Given the description of an element on the screen output the (x, y) to click on. 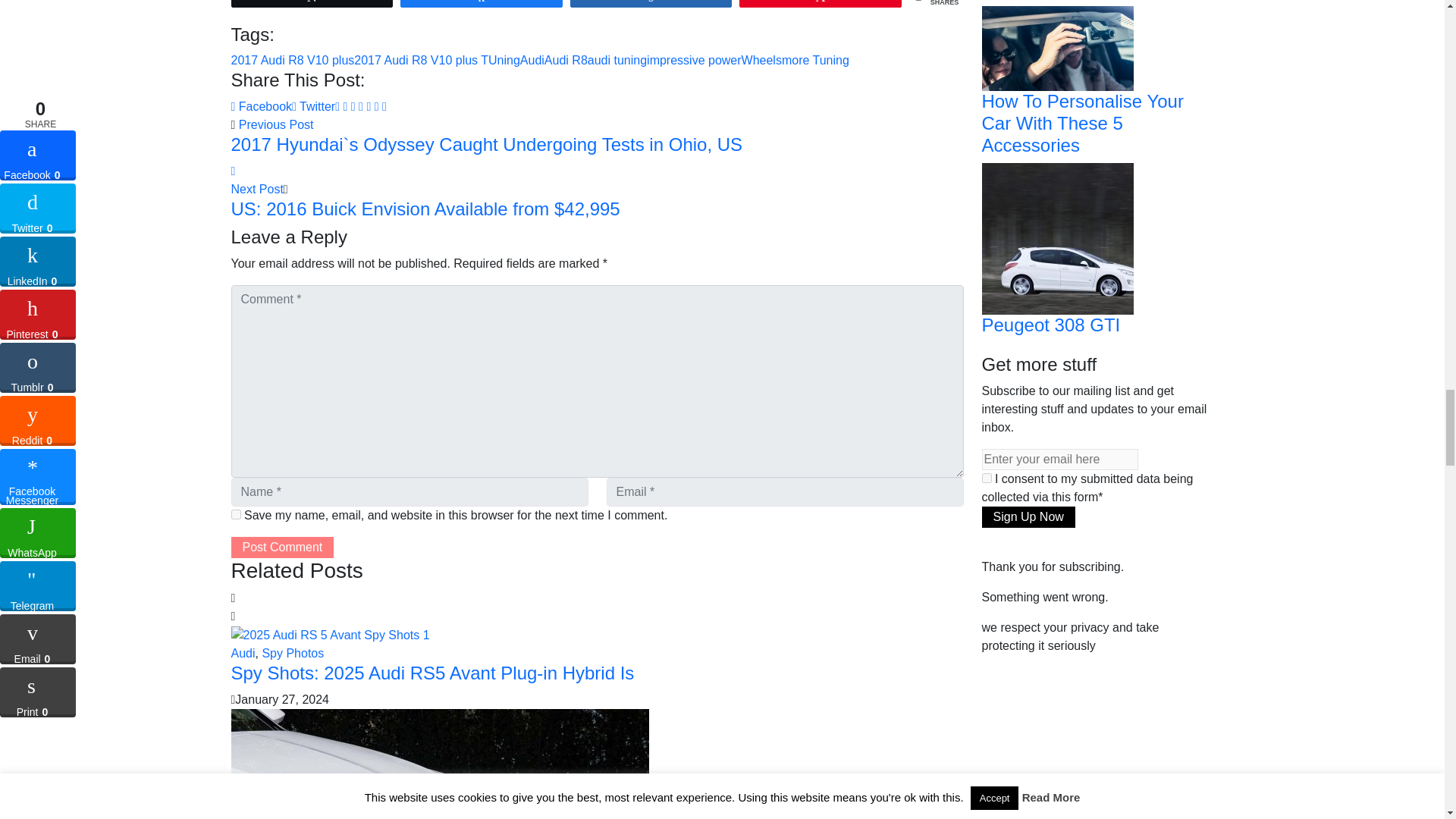
on (986, 478)
Post Comment (281, 547)
yes (235, 514)
Sign Up Now (1027, 516)
